Given the description of an element on the screen output the (x, y) to click on. 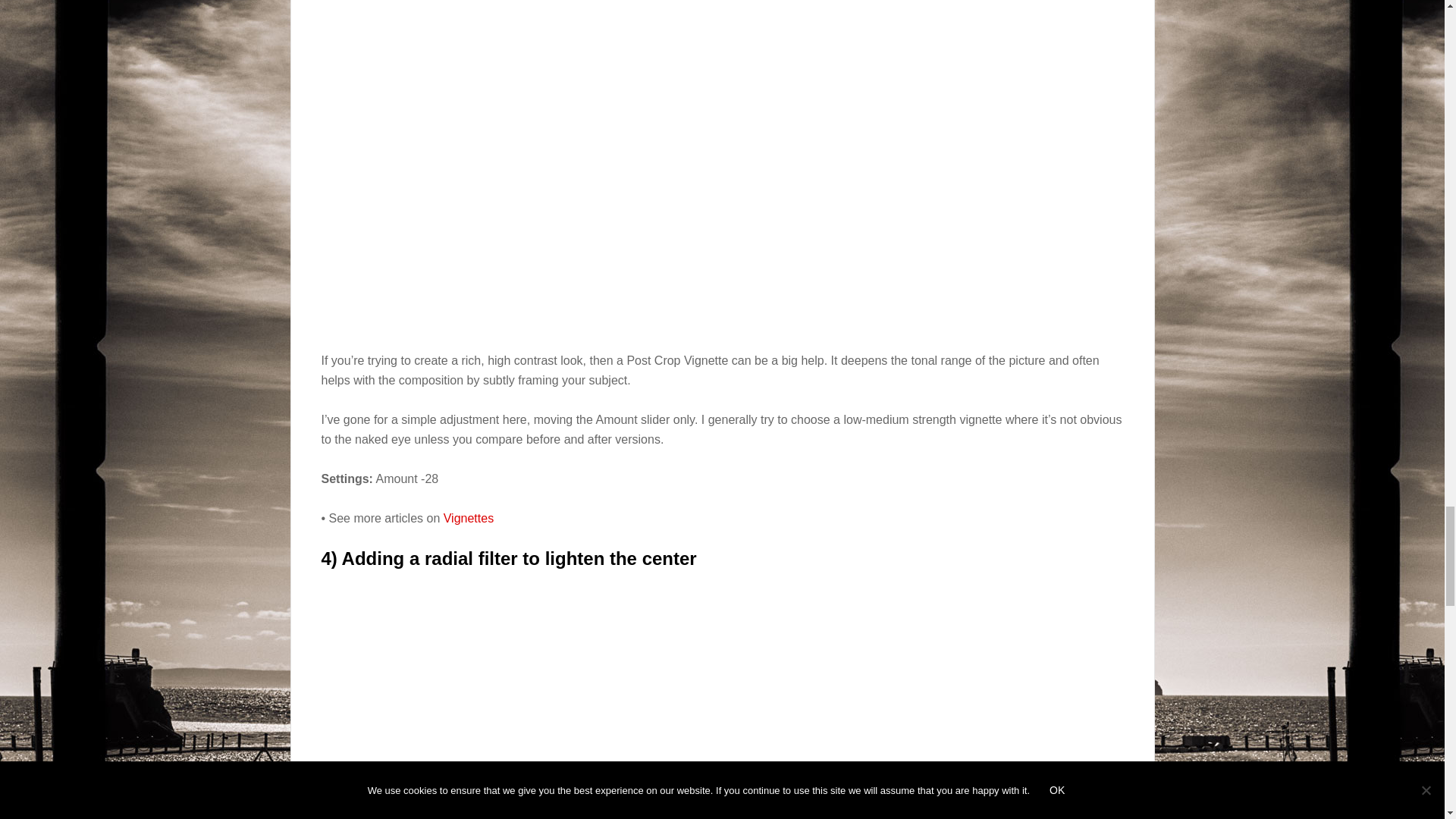
Vignettes (468, 517)
